Given the description of an element on the screen output the (x, y) to click on. 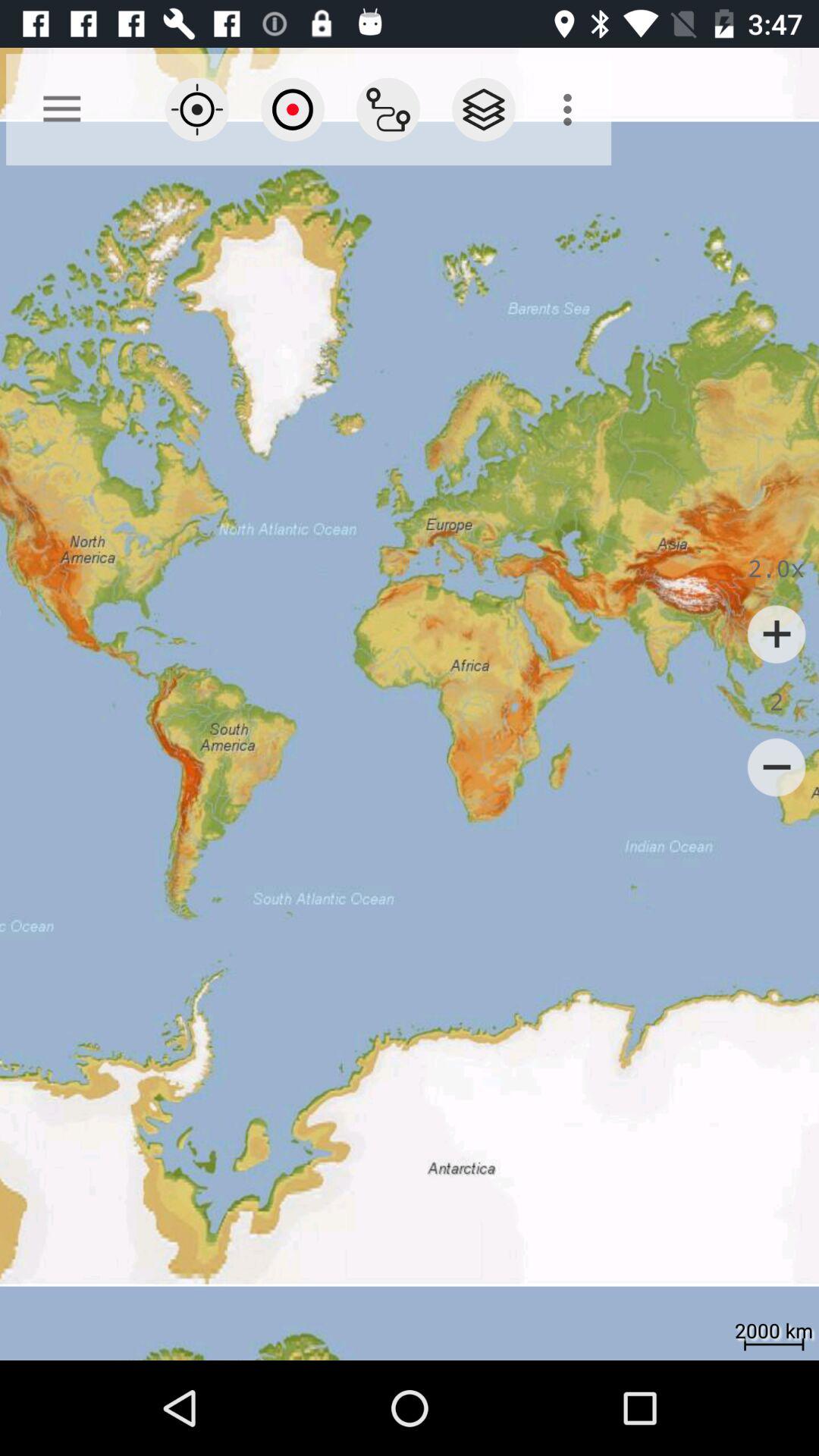
turn on the icon below the 2 (776, 767)
